Given the description of an element on the screen output the (x, y) to click on. 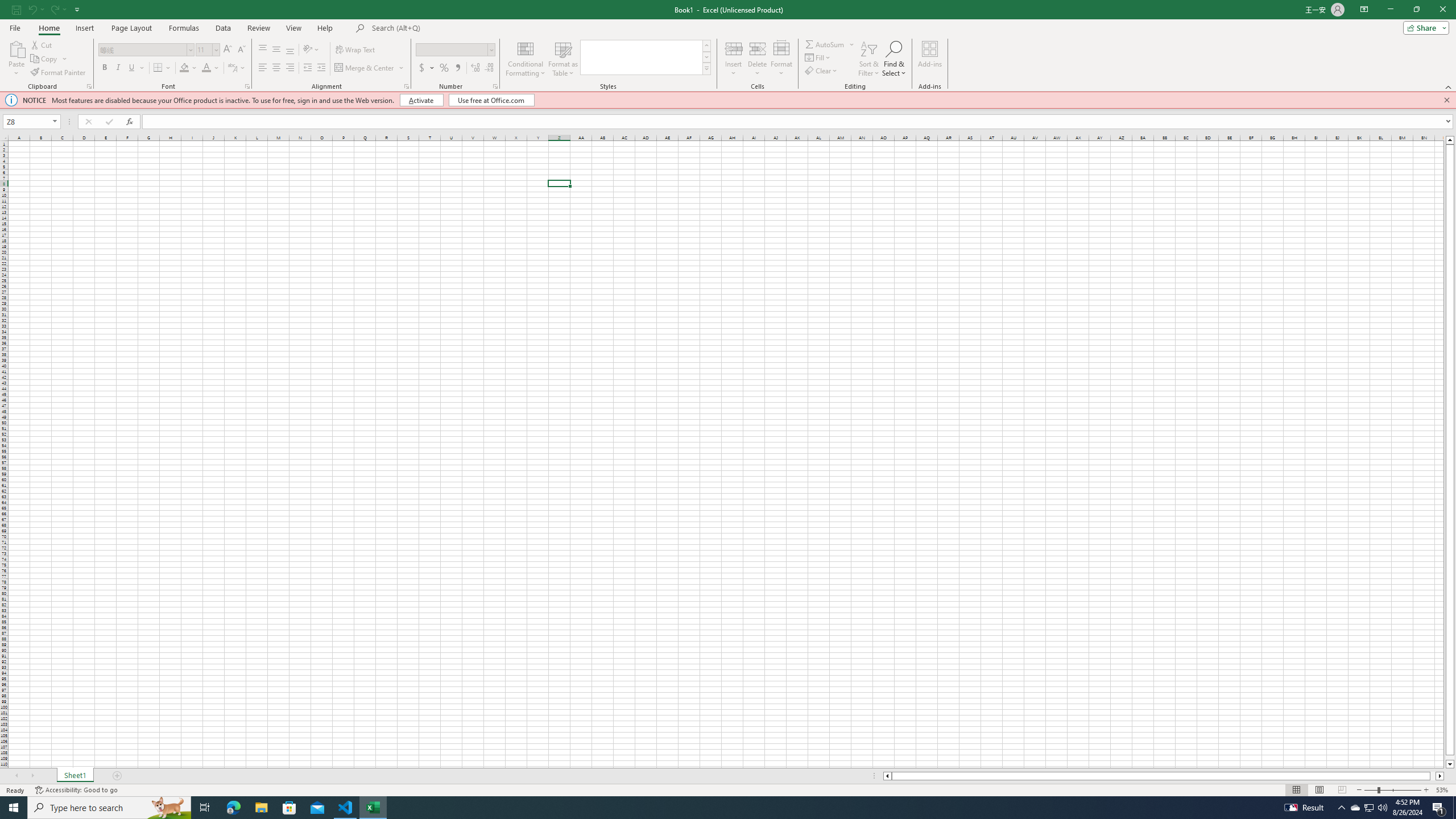
Row up (705, 45)
Align Left (262, 67)
Percent Style (443, 67)
Bold (104, 67)
Delete (757, 58)
Bottom Border (157, 67)
Borders (162, 67)
Conditional Formatting (525, 58)
Class: MsoCommandBar (728, 45)
